Given the description of an element on the screen output the (x, y) to click on. 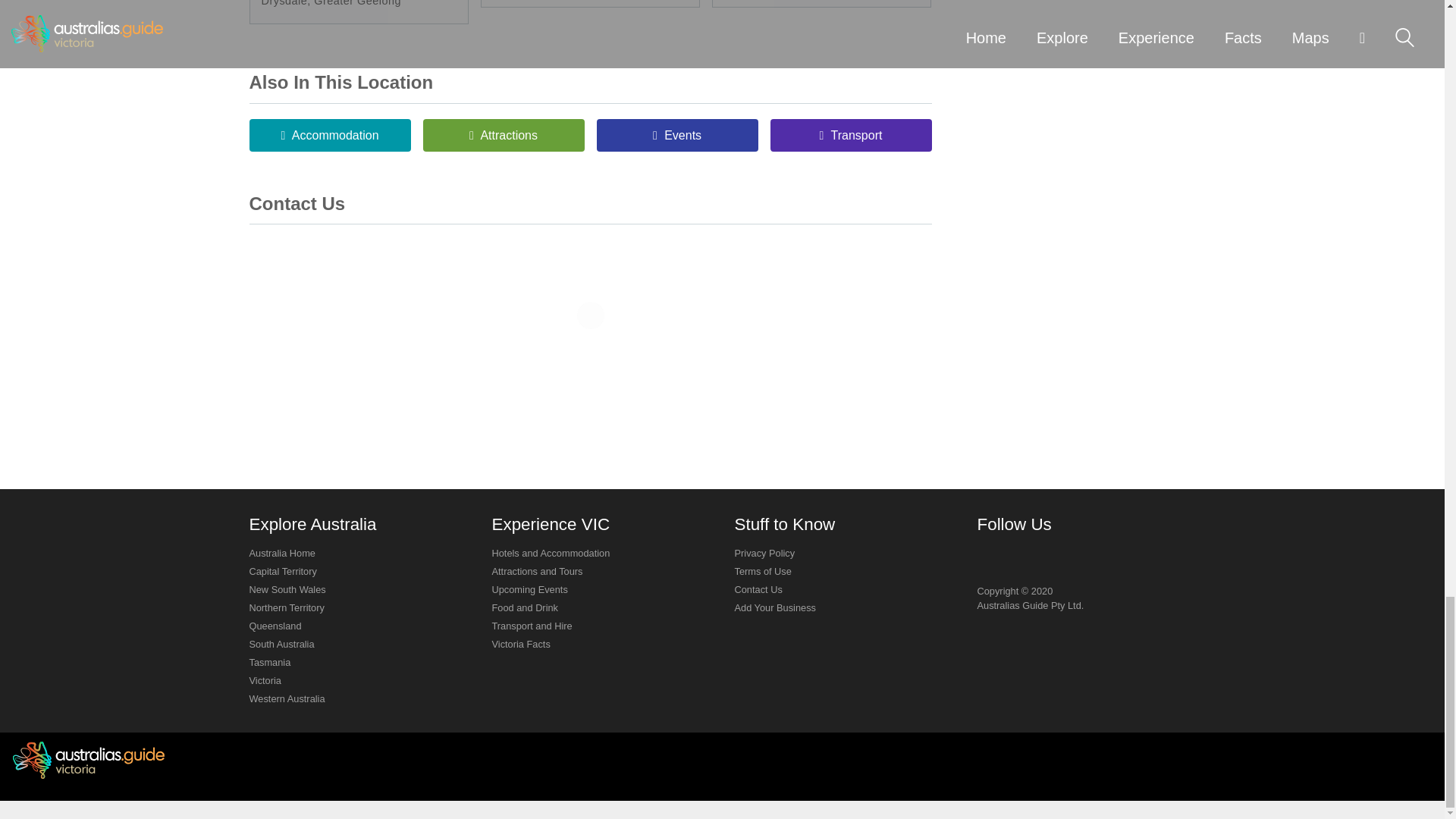
Accommodation (329, 134)
